Given the description of an element on the screen output the (x, y) to click on. 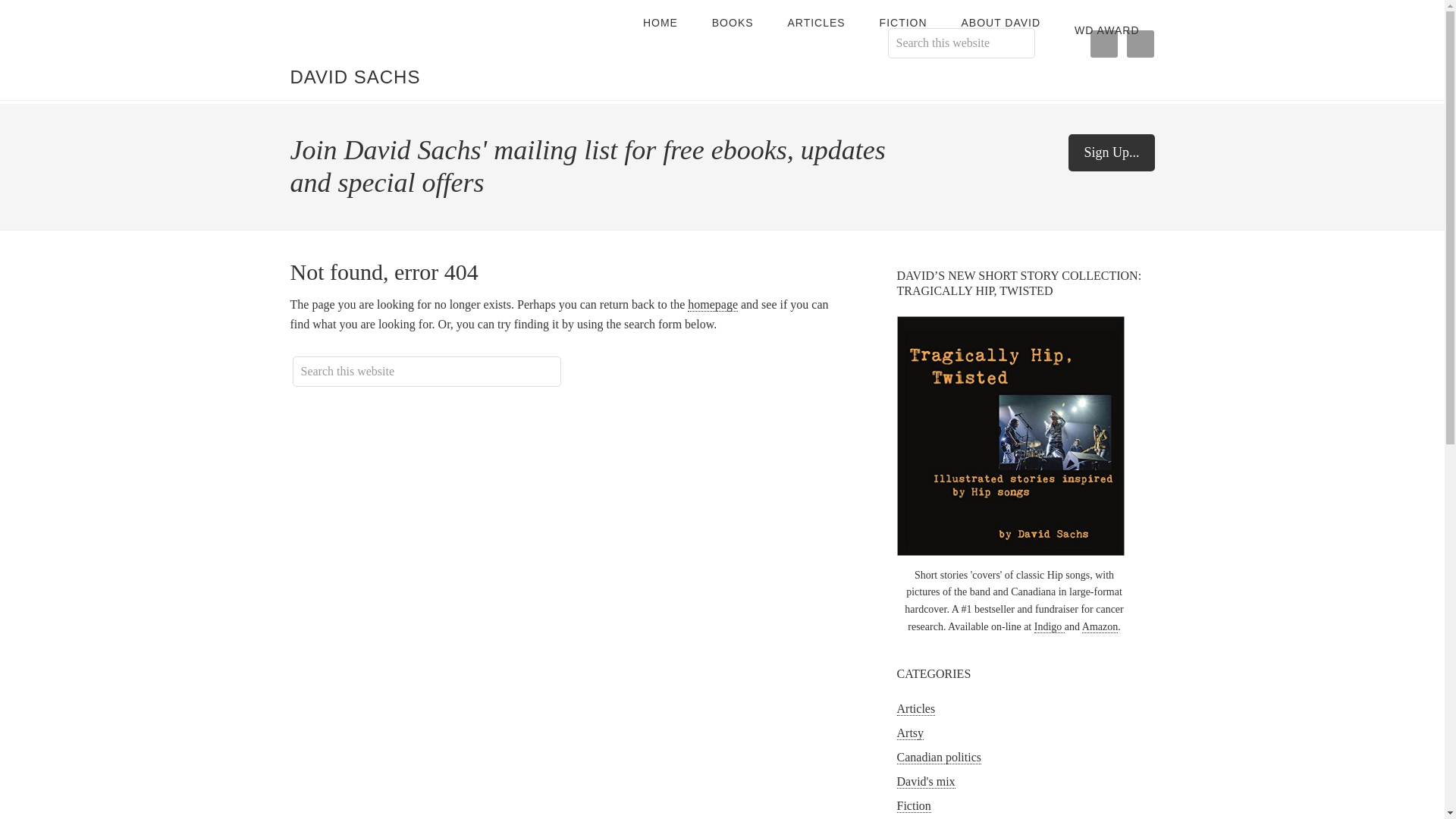
Artsy (909, 733)
ABOUT DAVID (999, 22)
Tragically Hip, Twisted (1010, 436)
Indigo (1048, 626)
Canadian politics (938, 757)
ARTICLES (815, 22)
Articles (915, 708)
